Given the description of an element on the screen output the (x, y) to click on. 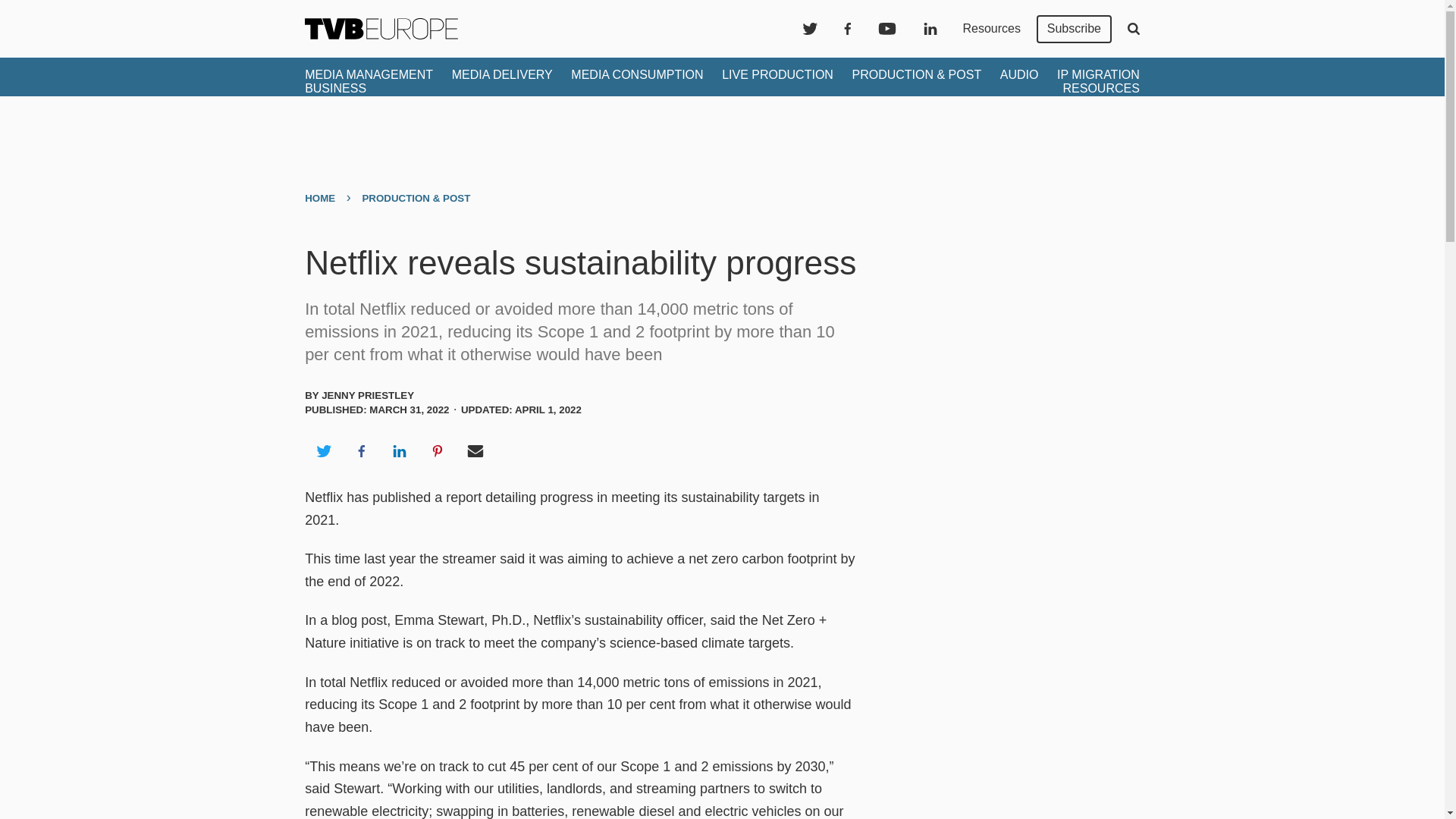
Share on Pinterest (438, 451)
Share on Facebook (361, 451)
Share via Email (476, 451)
Jenny Priestley's Author Profile (367, 395)
Share on LinkedIn (399, 451)
Share on Twitter (323, 451)
